Given the description of an element on the screen output the (x, y) to click on. 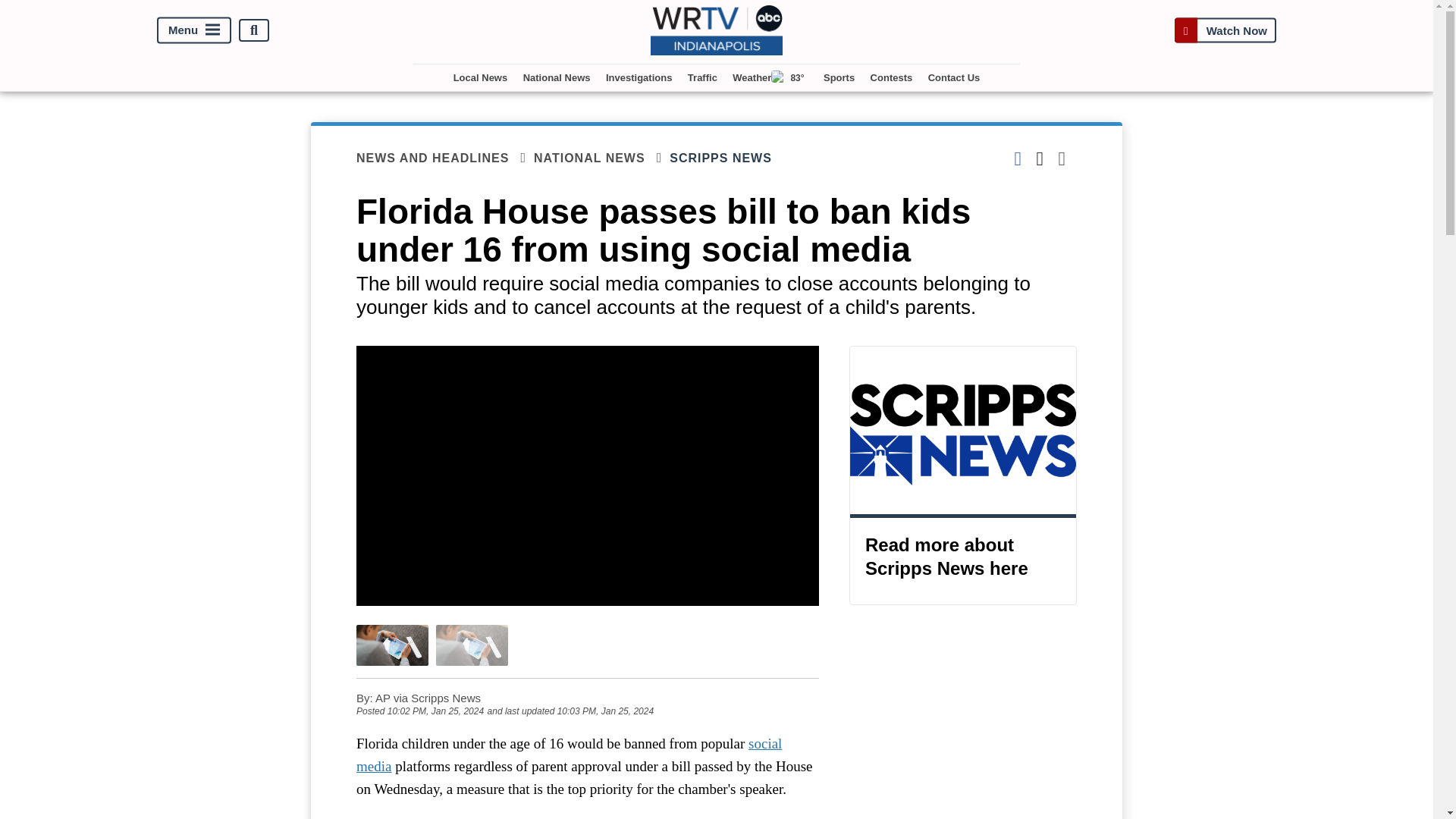
Watch Now (1224, 30)
Menu (194, 30)
